Given the description of an element on the screen output the (x, y) to click on. 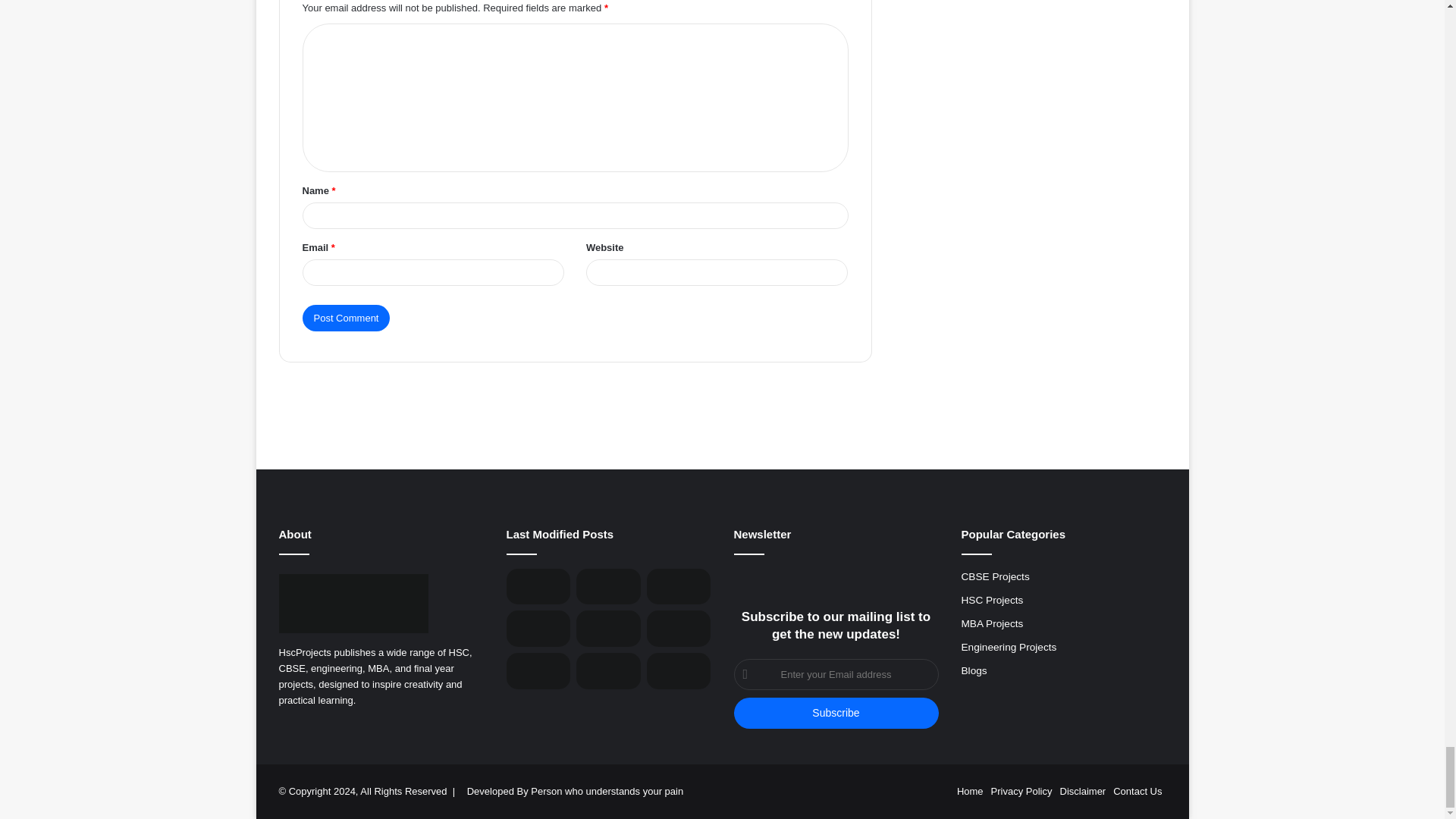
Subscribe (836, 712)
Post Comment (345, 317)
